Given the description of an element on the screen output the (x, y) to click on. 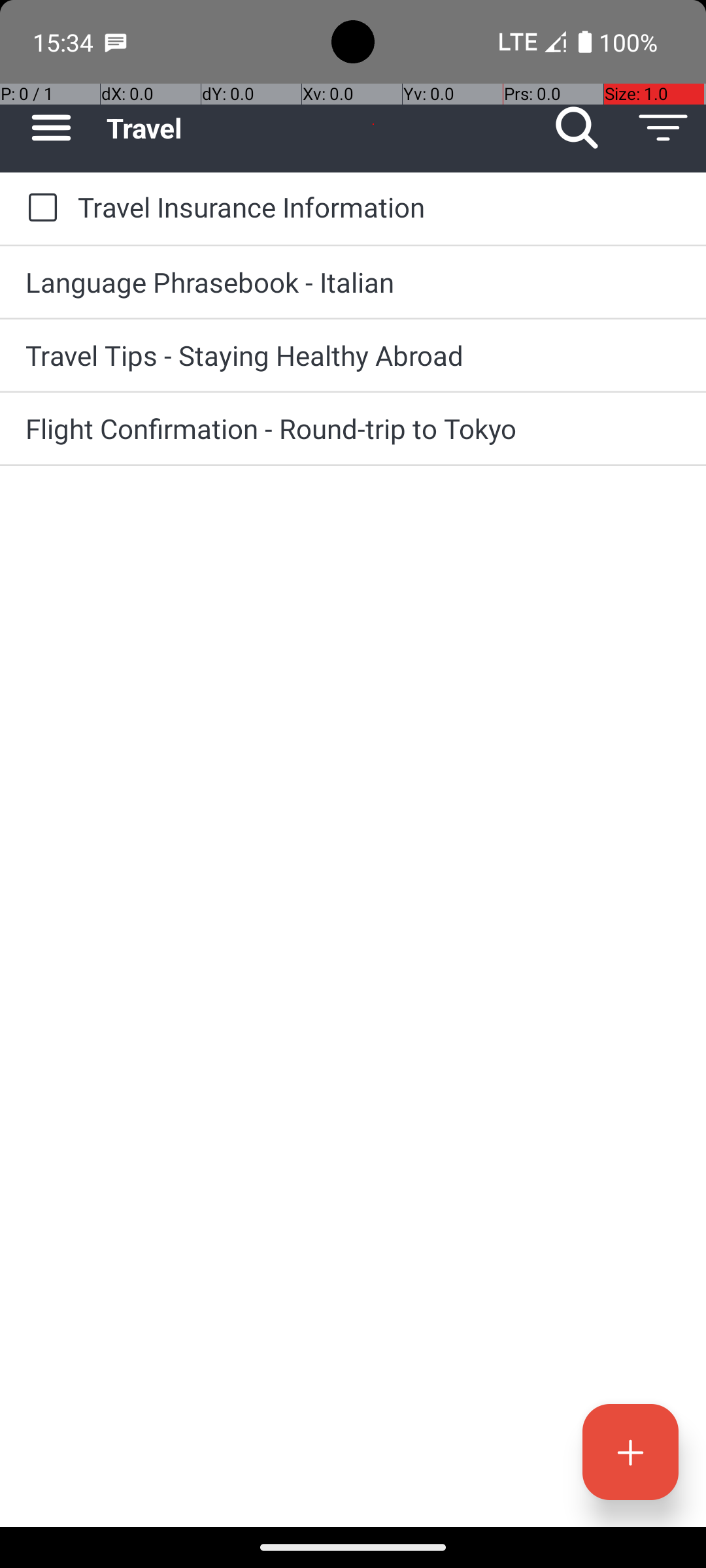
to-do: Travel Insurance Information Element type: android.widget.CheckBox (38, 208)
Travel Insurance Information Element type: android.widget.TextView (378, 206)
Language Phrasebook - Italian Element type: android.widget.TextView (352, 281)
Travel Tips - Staying Healthy Abroad Element type: android.widget.TextView (352, 354)
Flight Confirmation - Round-trip to Tokyo Element type: android.widget.TextView (352, 427)
